Given the description of an element on the screen output the (x, y) to click on. 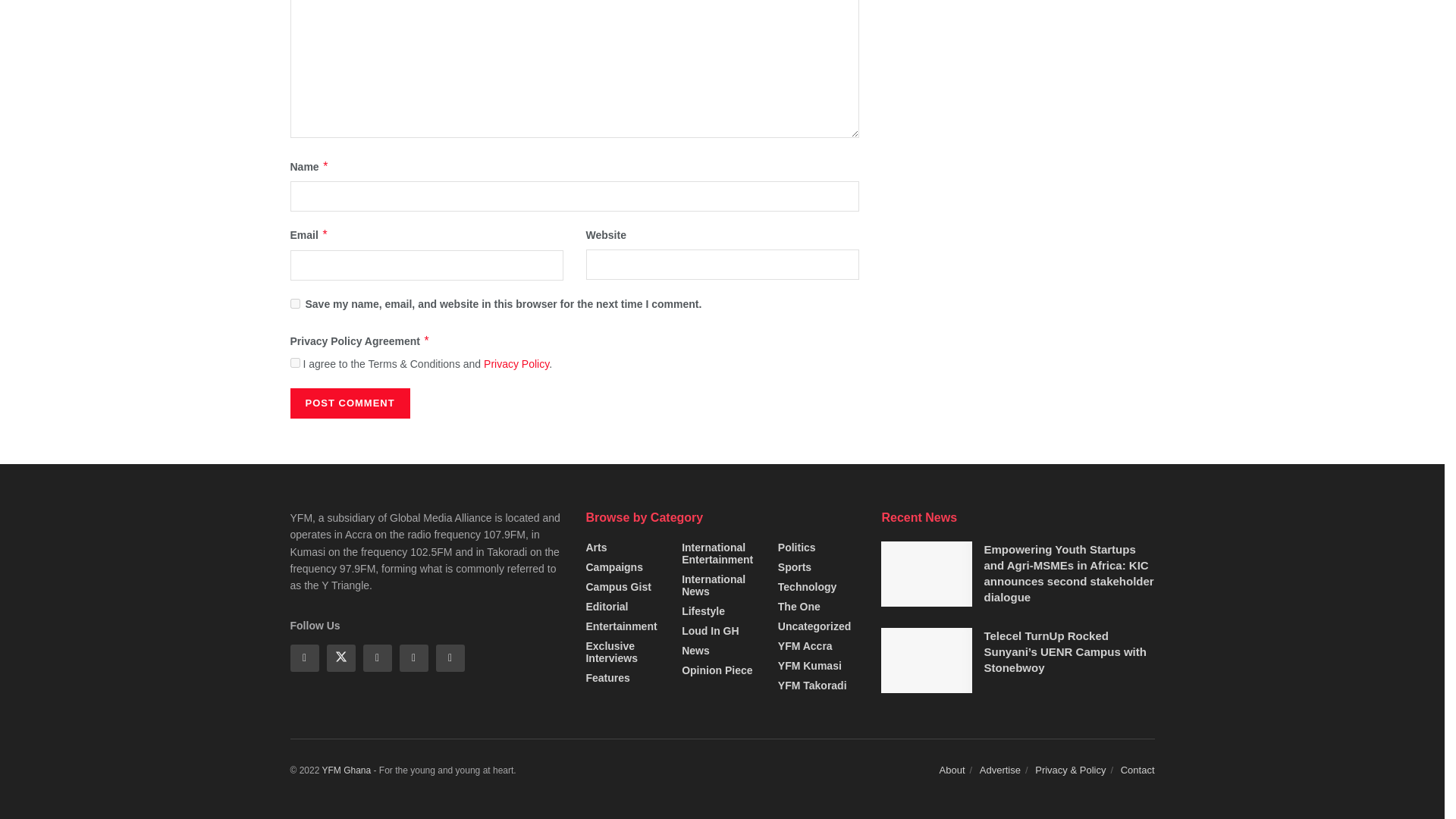
on (294, 362)
YFM Ghana (346, 769)
yes (294, 303)
Post Comment (349, 403)
